Given the description of an element on the screen output the (x, y) to click on. 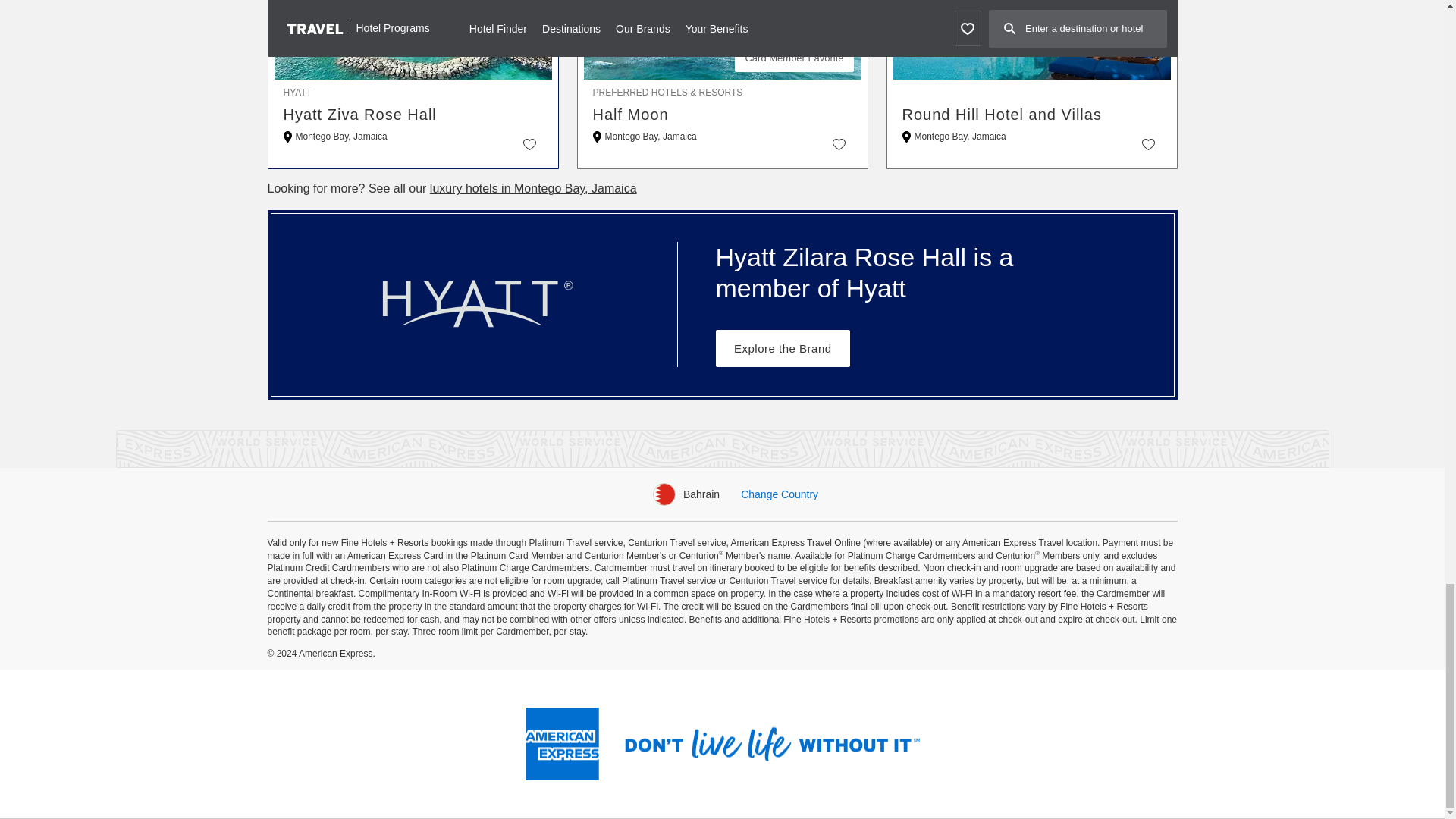
luxury hotels in Montego Bay, Jamaica (533, 187)
Hyatt Ziva Rose Hall (413, 114)
Round Hill Hotel and Villas (1031, 114)
Change Country (779, 494)
Explore the Brand (783, 348)
Half Moon (721, 114)
